Given the description of an element on the screen output the (x, y) to click on. 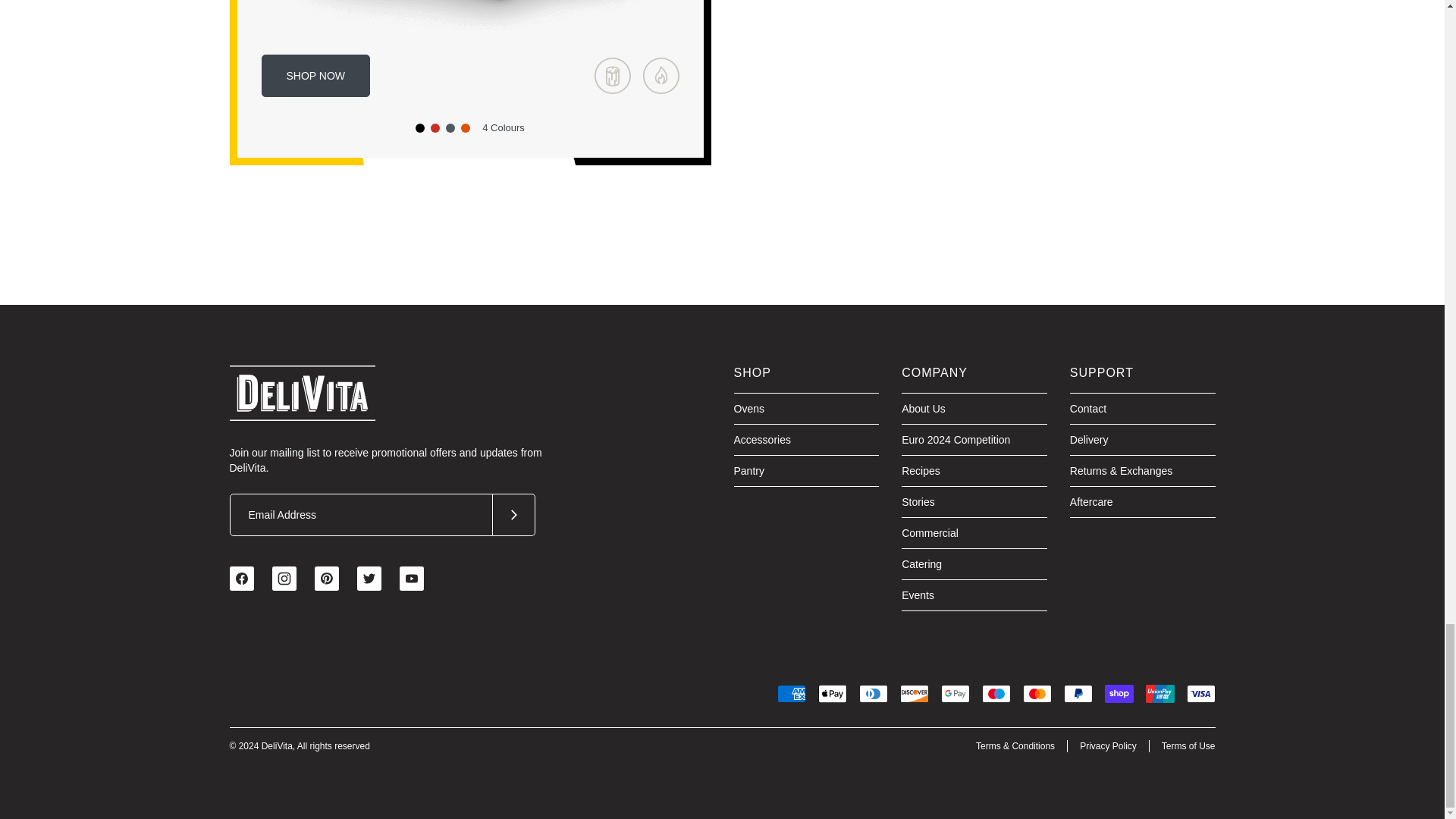
Discover (913, 693)
Mastercard (1036, 693)
American Express (790, 693)
Visa (1200, 693)
Union Pay (1158, 693)
Google Pay (954, 693)
PayPal (1077, 693)
Apple Pay (830, 693)
Diners Club (872, 693)
Maestro (995, 693)
Subscribe (514, 514)
Shop Pay (1117, 693)
